Given the description of an element on the screen output the (x, y) to click on. 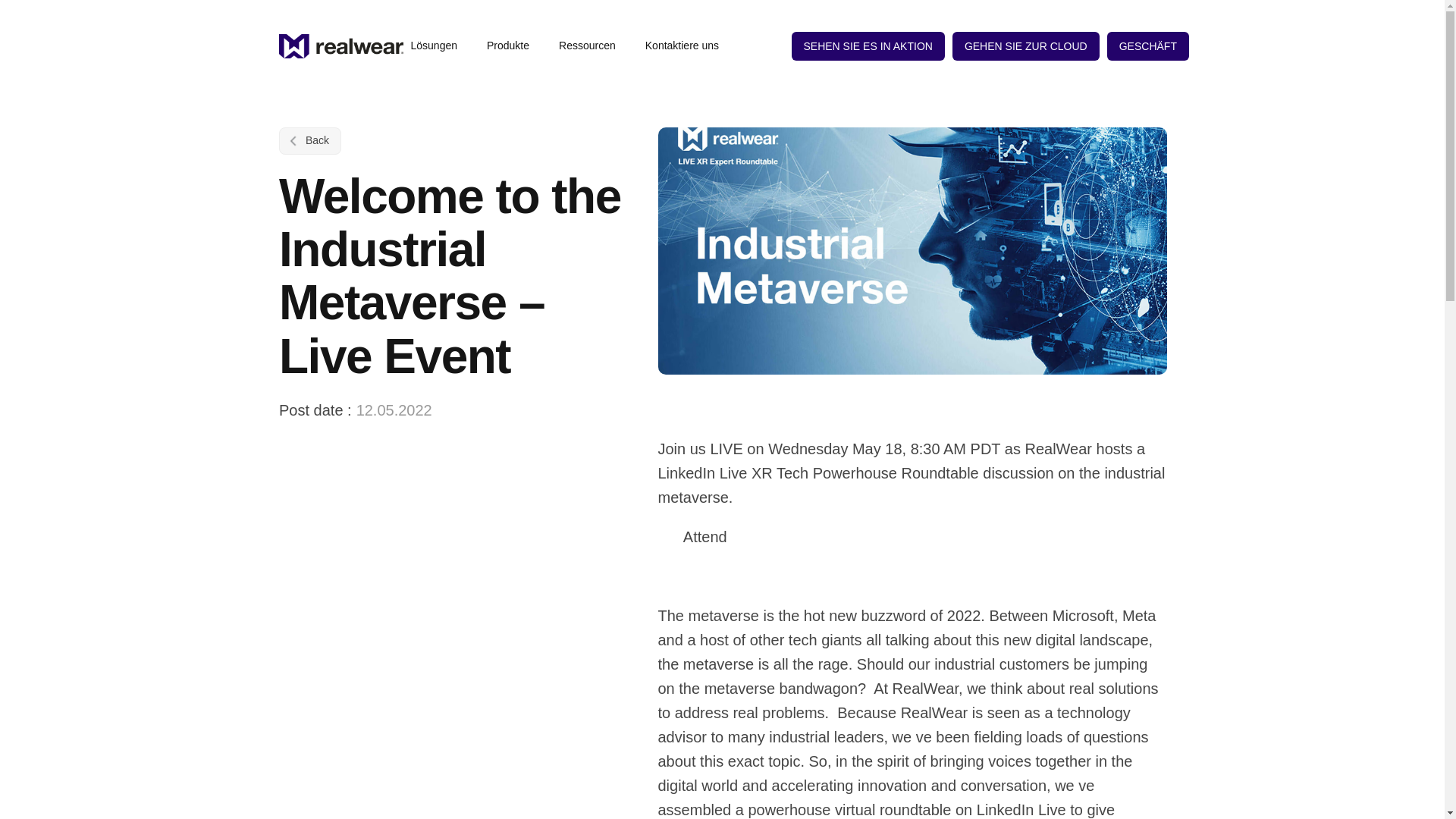
Kontaktiere uns (681, 46)
GEHEN SIE ZUR CLOUD (1025, 45)
Back (309, 140)
SEHEN SIE ES IN AKTION (868, 45)
Ressourcen (594, 46)
Produkte (515, 46)
